Given the description of an element on the screen output the (x, y) to click on. 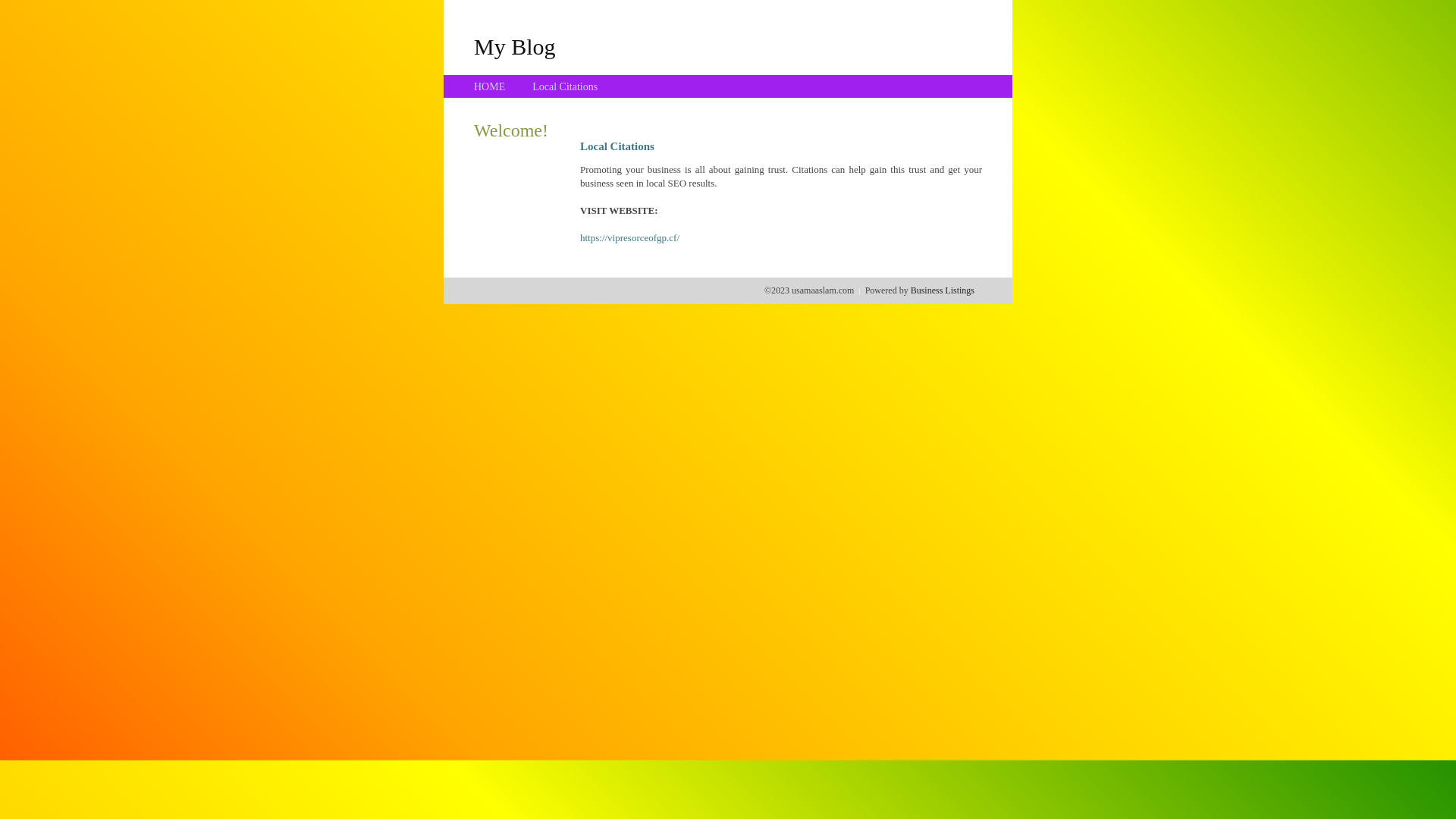
Local Citations Element type: text (564, 86)
Business Listings Element type: text (942, 290)
My Blog Element type: text (514, 46)
HOME Element type: text (489, 86)
https://vipresorceofgp.cf/ Element type: text (629, 237)
